Given the description of an element on the screen output the (x, y) to click on. 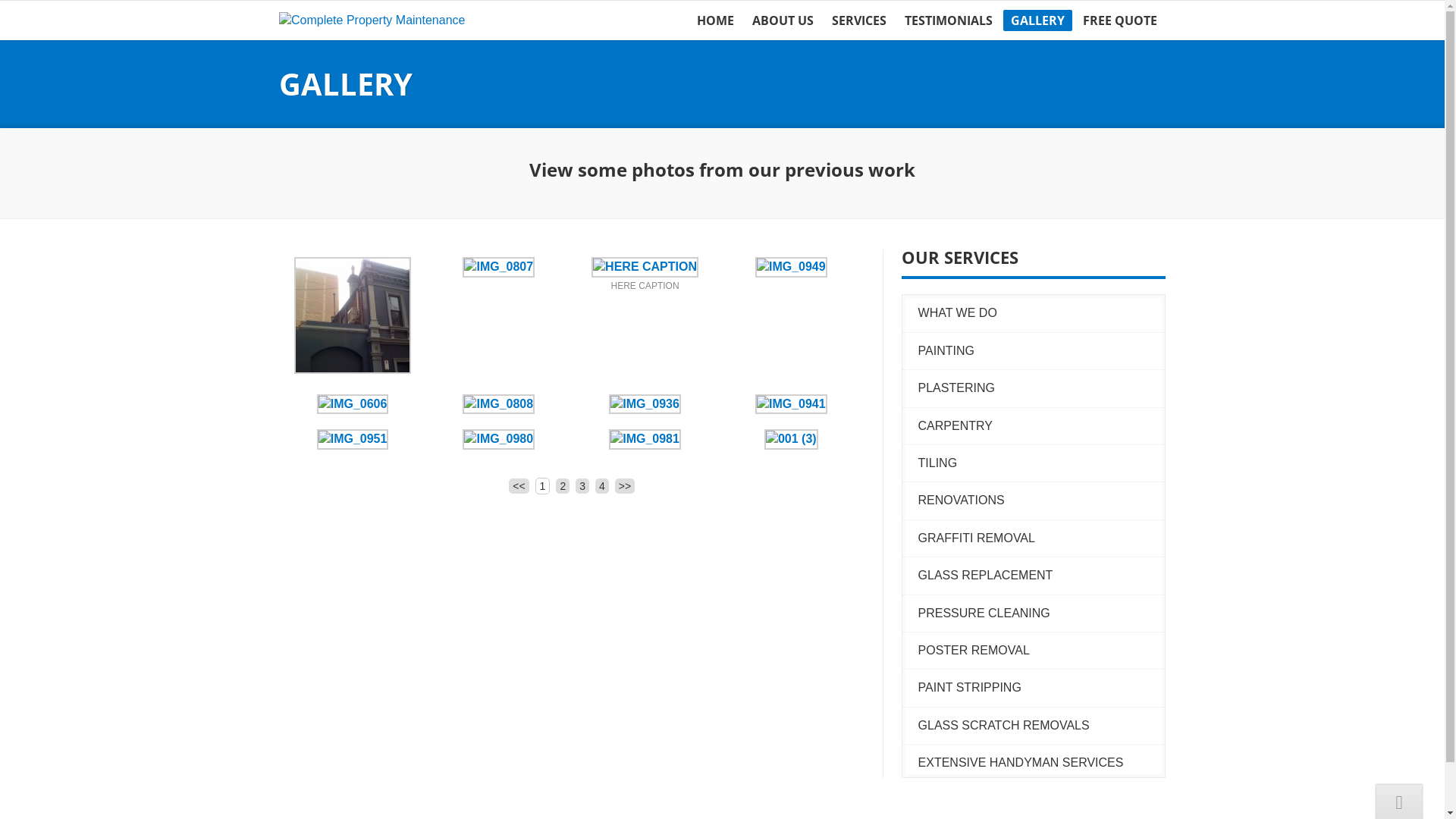
RENOVATIONS Element type: text (1039, 500)
CARPENTRY Element type: text (1039, 425)
IMG_0949 Element type: hover (791, 266)
PLASTERING Element type: text (1039, 387)
TESTIMONIALS Element type: text (947, 20)
2 Element type: text (562, 485)
PAINT STRIPPING Element type: text (1039, 687)
001 (3) Element type: hover (791, 438)
GLASS SCRATCH REMOVALS Element type: text (1039, 725)
IMG_0613 Element type: hover (352, 369)
IMG_0808 Element type: hover (498, 403)
<< Element type: text (518, 485)
IMG_0951 Element type: hover (352, 438)
GALLERY Element type: text (1036, 20)
IMG_0807 Element type: hover (498, 266)
>> Element type: text (624, 485)
GRAFFITI REMOVAL Element type: text (1039, 538)
GLASS REPLACEMENT Element type: text (1039, 575)
PAINTING Element type: text (1039, 350)
IMG_0980 Element type: hover (498, 438)
4 Element type: text (601, 485)
WHAT WE DO Element type: text (1039, 312)
IMG_0941 Element type: hover (791, 403)
IMG_0936 Element type: hover (644, 403)
ABOUT US Element type: text (782, 20)
POSTER REMOVAL Element type: text (1039, 650)
IMG_0606 Element type: hover (352, 403)
PRESSURE CLEANING Element type: text (1039, 613)
IMG_0555 Element type: hover (644, 266)
HOME Element type: text (714, 20)
TILING Element type: text (1039, 462)
FREE QUOTE Element type: text (1119, 20)
SERVICES Element type: text (858, 20)
IMG_0981 Element type: hover (644, 438)
3 Element type: text (582, 485)
EXTENSIVE HANDYMAN SERVICES Element type: text (1039, 762)
